Given the description of an element on the screen output the (x, y) to click on. 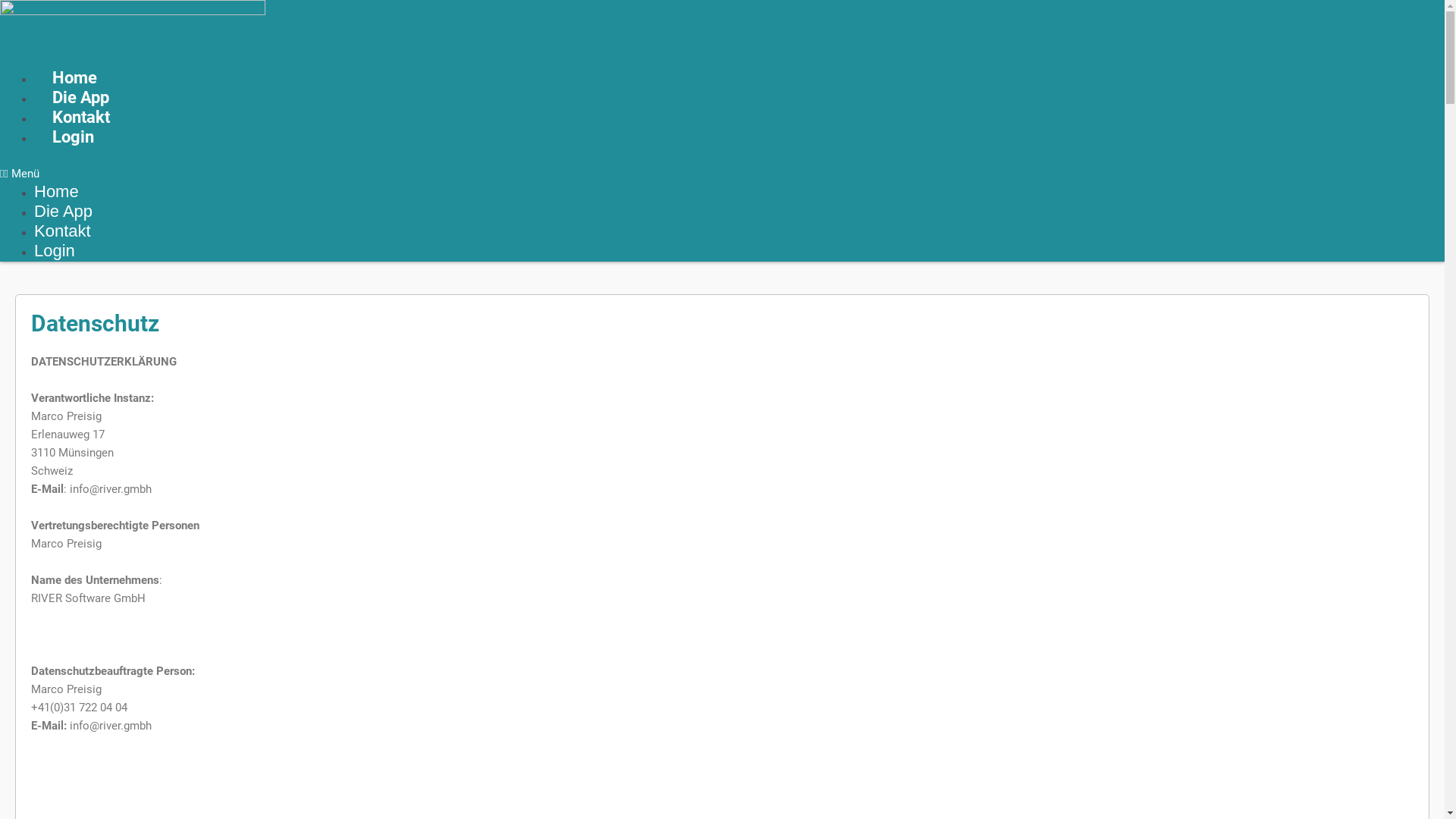
Login Element type: text (54, 250)
Kontakt Element type: text (81, 116)
Home Element type: text (56, 191)
Die App Element type: text (80, 97)
Login Element type: text (73, 136)
Home Element type: text (74, 77)
Kontakt Element type: text (62, 230)
Die App Element type: text (63, 210)
